Given the description of an element on the screen output the (x, y) to click on. 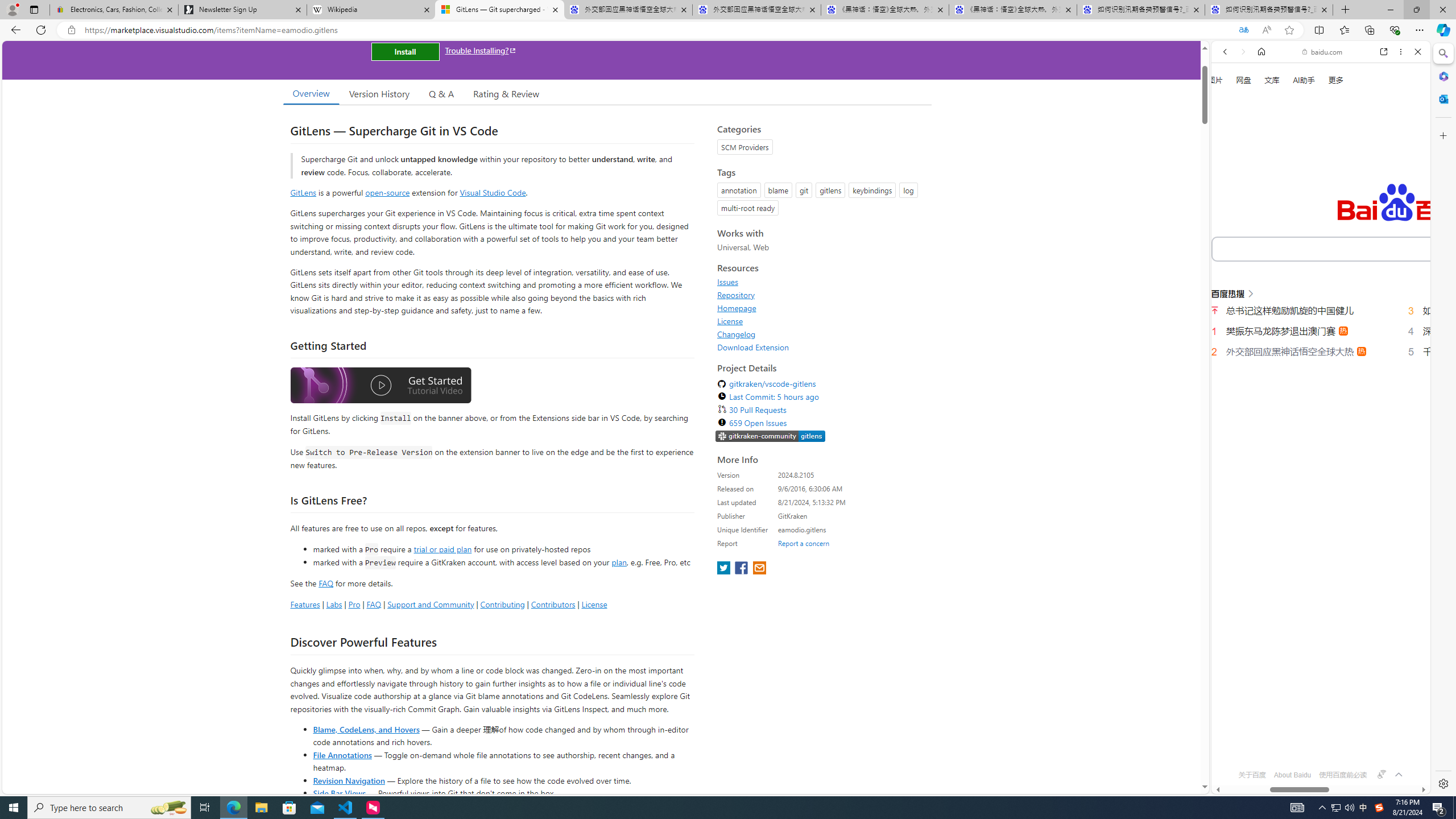
Side bar (1443, 418)
Changelog (820, 333)
Search the web (1326, 78)
https://slack.gitkraken.com// (769, 436)
Homepage (820, 307)
Customize (1442, 135)
plan (618, 562)
Overview (310, 92)
Rating & Review (505, 92)
Forward (1242, 51)
